Given the description of an element on the screen output the (x, y) to click on. 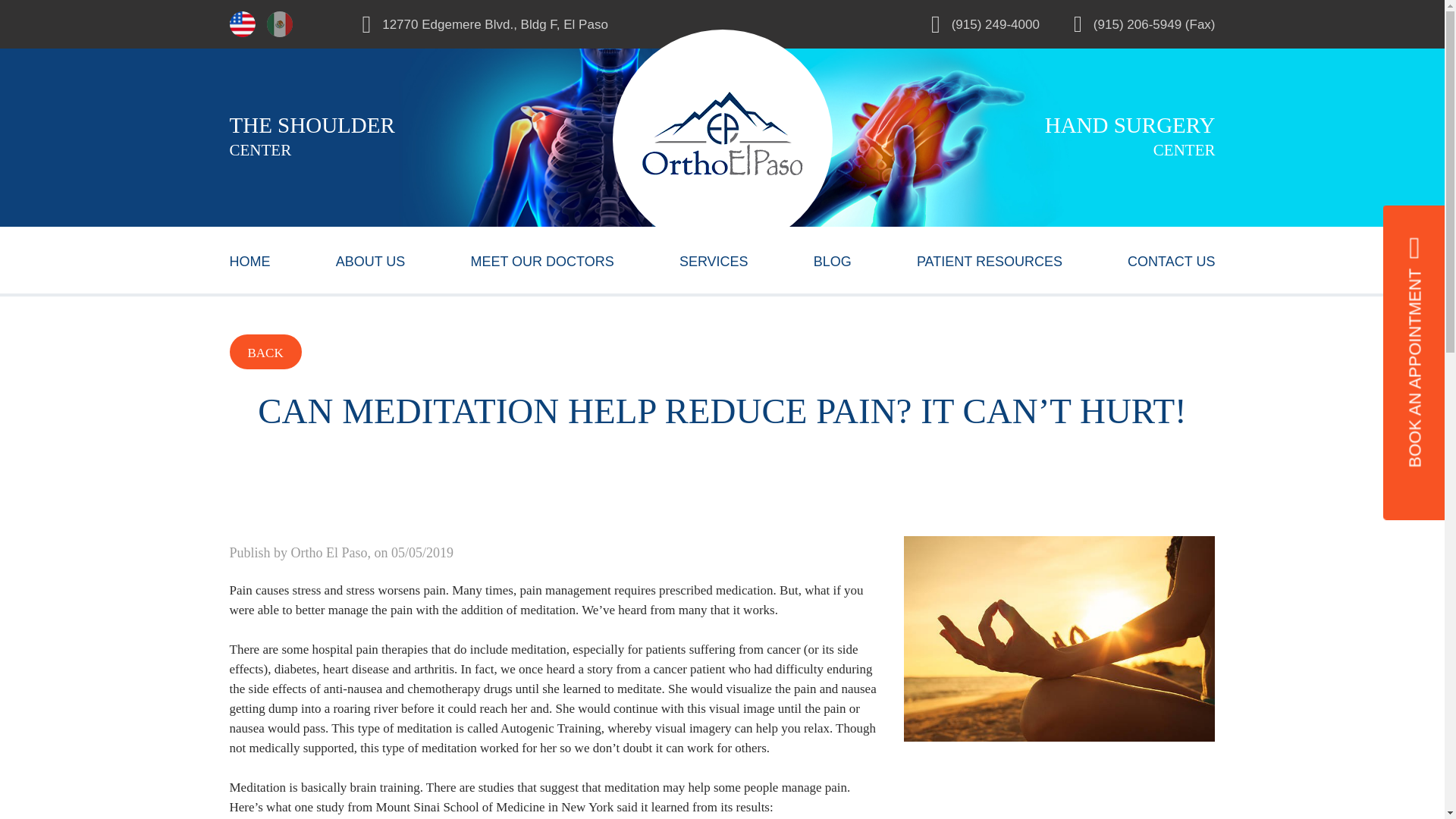
Language: English language (242, 23)
ABOUT US (371, 259)
SERVICES (713, 259)
PATIENT RESOURCES (989, 259)
Language: English language (241, 23)
CONTACT US (1170, 259)
MEET OUR DOCTORS (541, 259)
Language: Spanish language (279, 23)
12770 Edgemere Blvd., Bldg F, El Paso (542, 24)
